Given the description of an element on the screen output the (x, y) to click on. 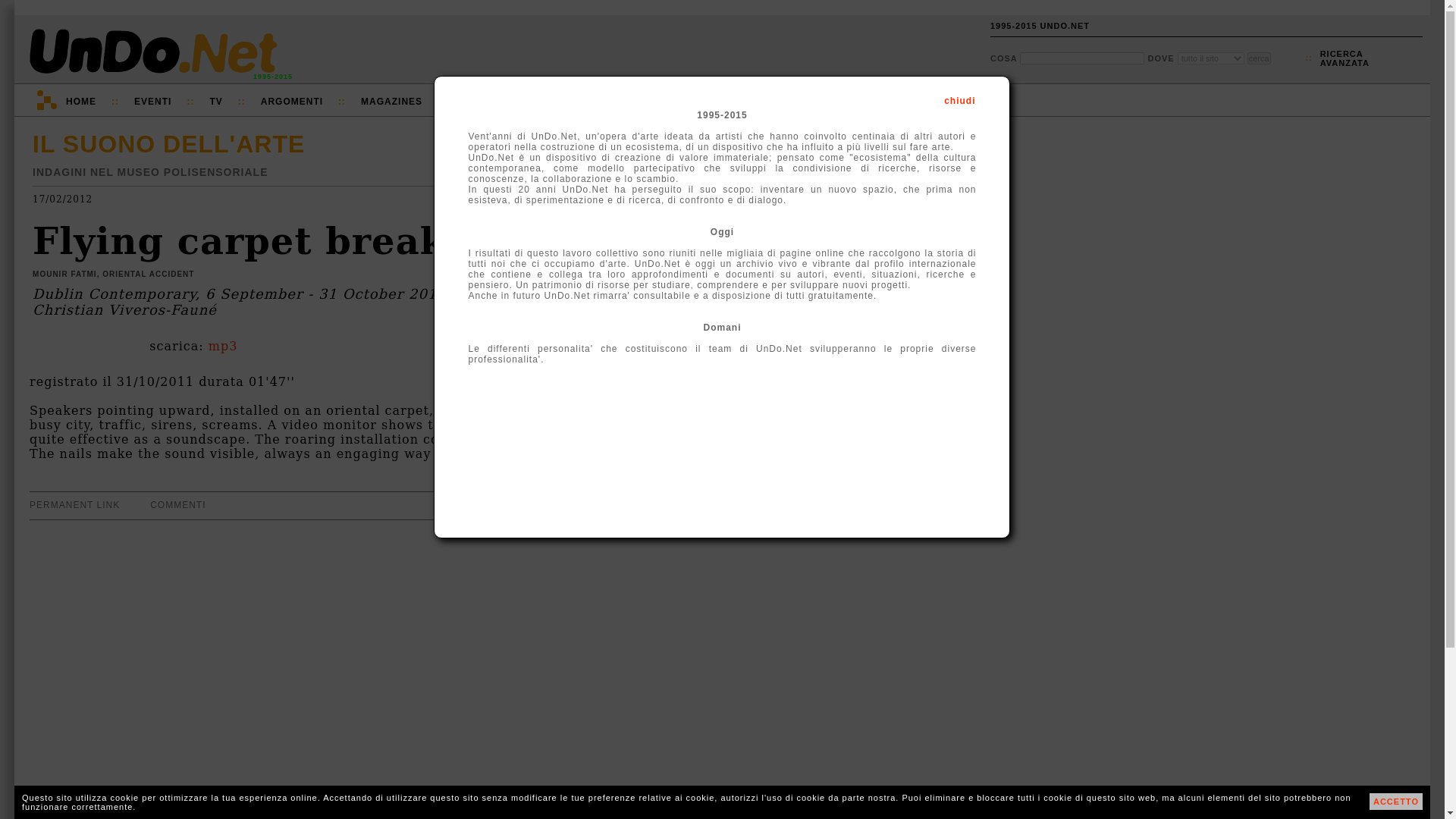
ARGOMENTI (291, 101)
1995-2015 UNDO.NET (1039, 25)
TV (215, 101)
HOME (80, 101)
PERMANENT LINK (74, 503)
cerca (1259, 58)
EVENTI (152, 101)
MAGAZINES (391, 101)
mp3 (223, 345)
IL SUONO DELL'ARTE (168, 144)
cerca (1259, 58)
PROGETTI (486, 101)
ACCETTO (1396, 801)
COMMENTI (1345, 58)
